Given the description of an element on the screen output the (x, y) to click on. 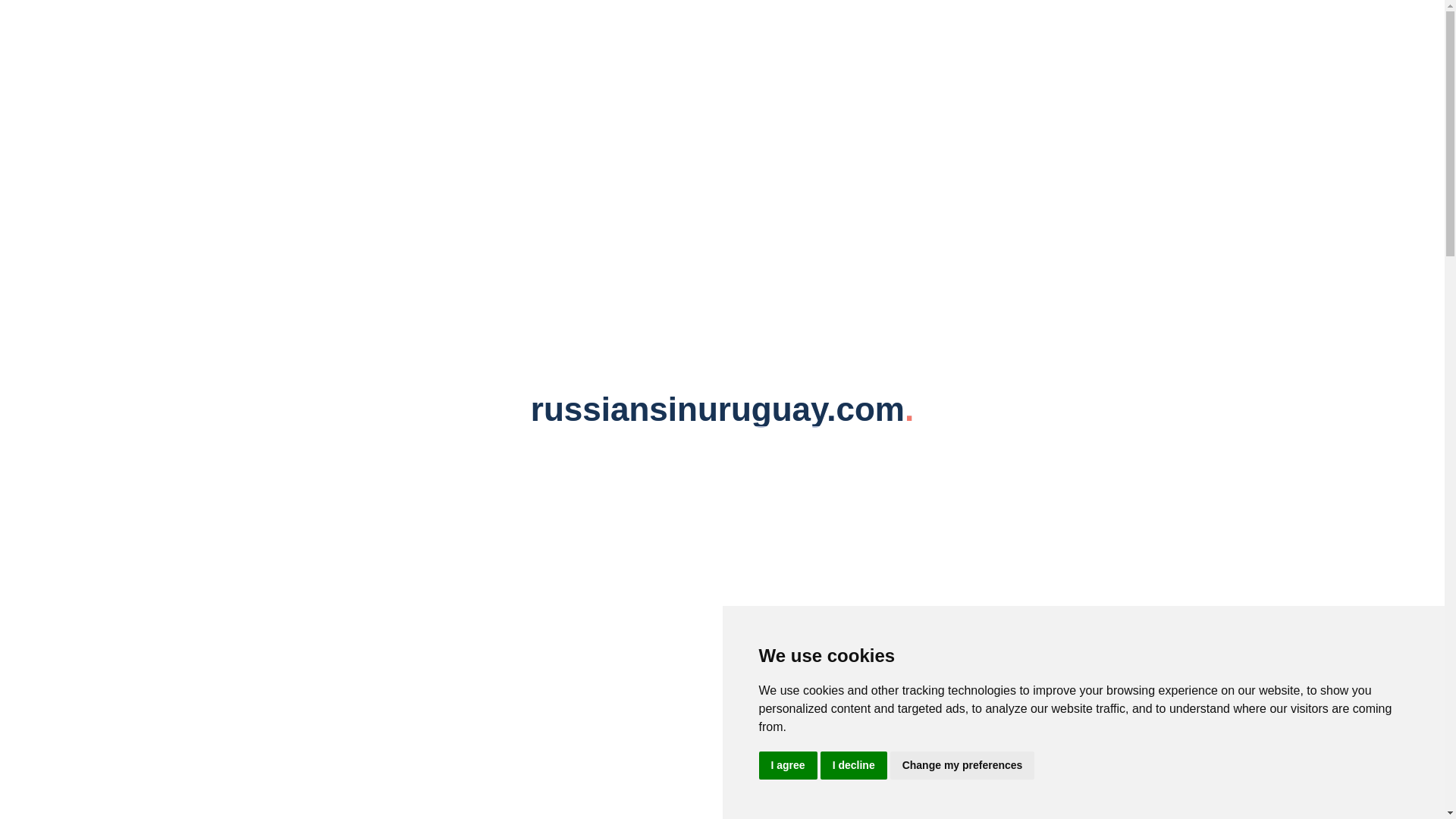
I agree (787, 765)
 russiansinuruguay.com (721, 30)
Change my preferences (962, 765)
Portada (325, 80)
I decline (853, 765)
Contacto (541, 80)
Blog (402, 80)
